Given the description of an element on the screen output the (x, y) to click on. 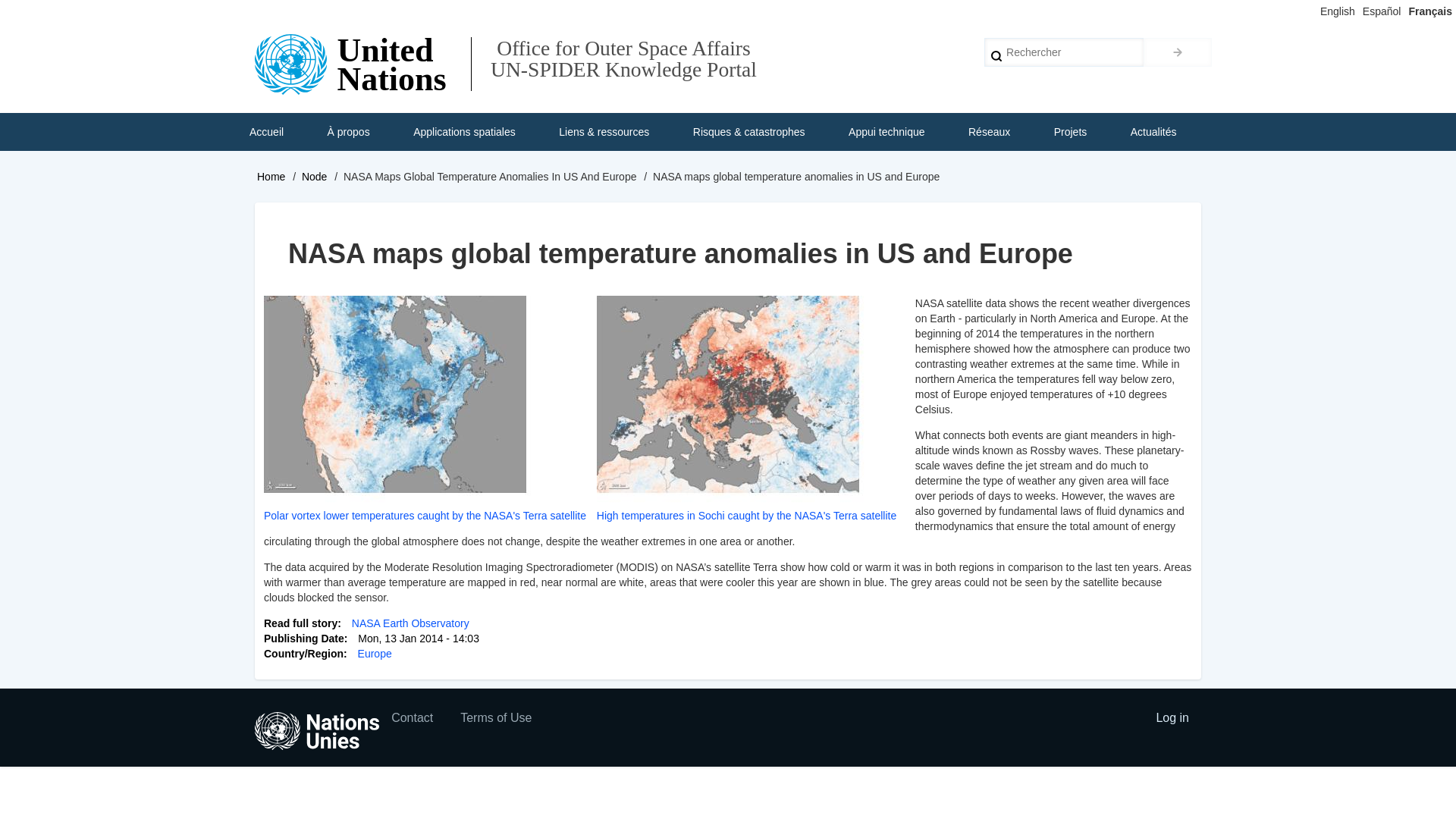
English (1337, 10)
. (1176, 51)
Enter the terms you wish to search for. (1063, 51)
. (1176, 51)
. (1176, 51)
Accueil (266, 131)
Applications spatiales (464, 131)
